Given the description of an element on the screen output the (x, y) to click on. 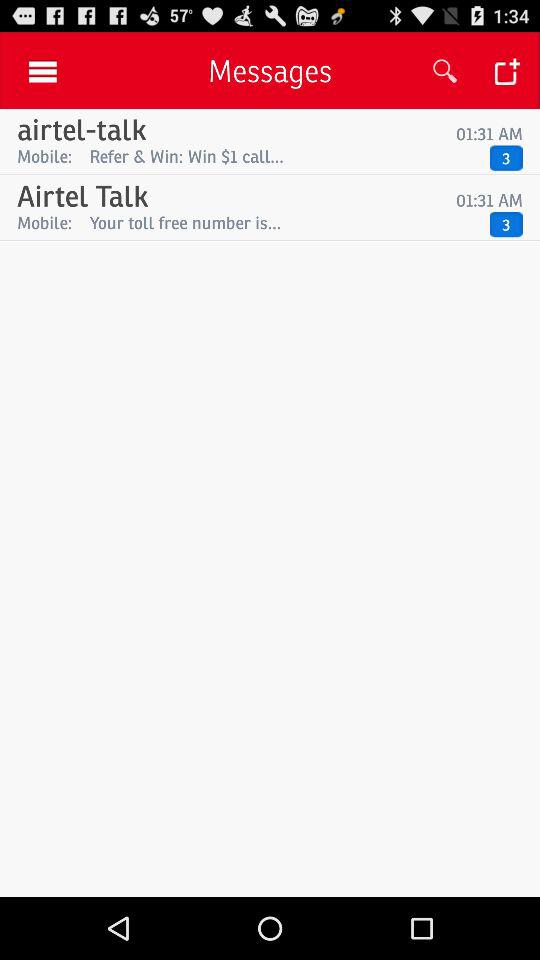
flip to your toll free (284, 222)
